Given the description of an element on the screen output the (x, y) to click on. 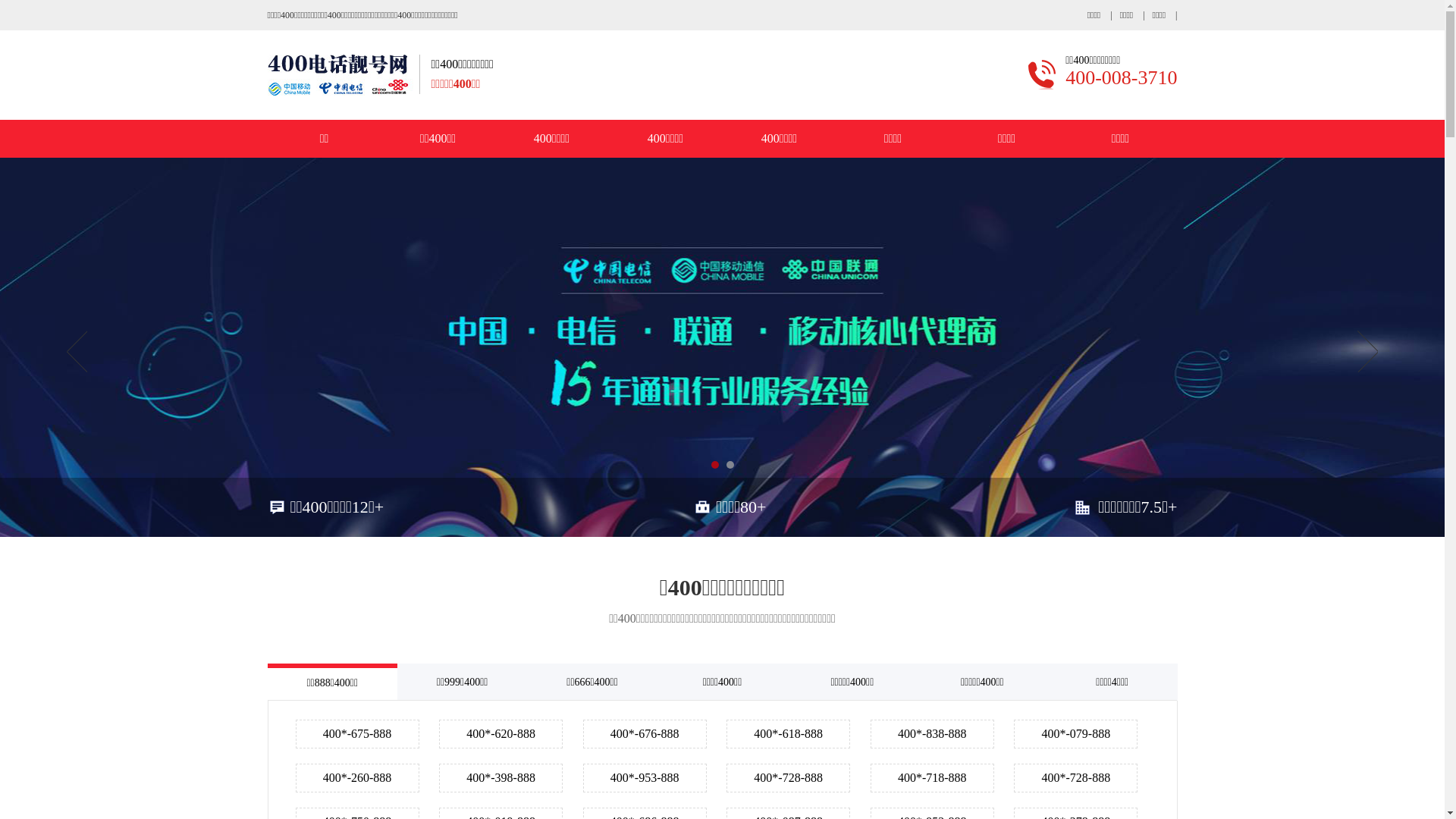
400*-838-888 Element type: text (932, 733)
400*-620-888 Element type: text (500, 733)
400*-728-888 Element type: text (788, 777)
400*-675-888 Element type: text (357, 733)
400*-079-888 Element type: text (1075, 733)
400*-718-888 Element type: text (932, 777)
400*-260-888 Element type: text (357, 777)
400*-728-888 Element type: text (1075, 777)
400*-953-888 Element type: text (644, 777)
400*-676-888 Element type: text (644, 733)
400*-618-888 Element type: text (788, 733)
400*-398-888 Element type: text (500, 777)
